Given the description of an element on the screen output the (x, y) to click on. 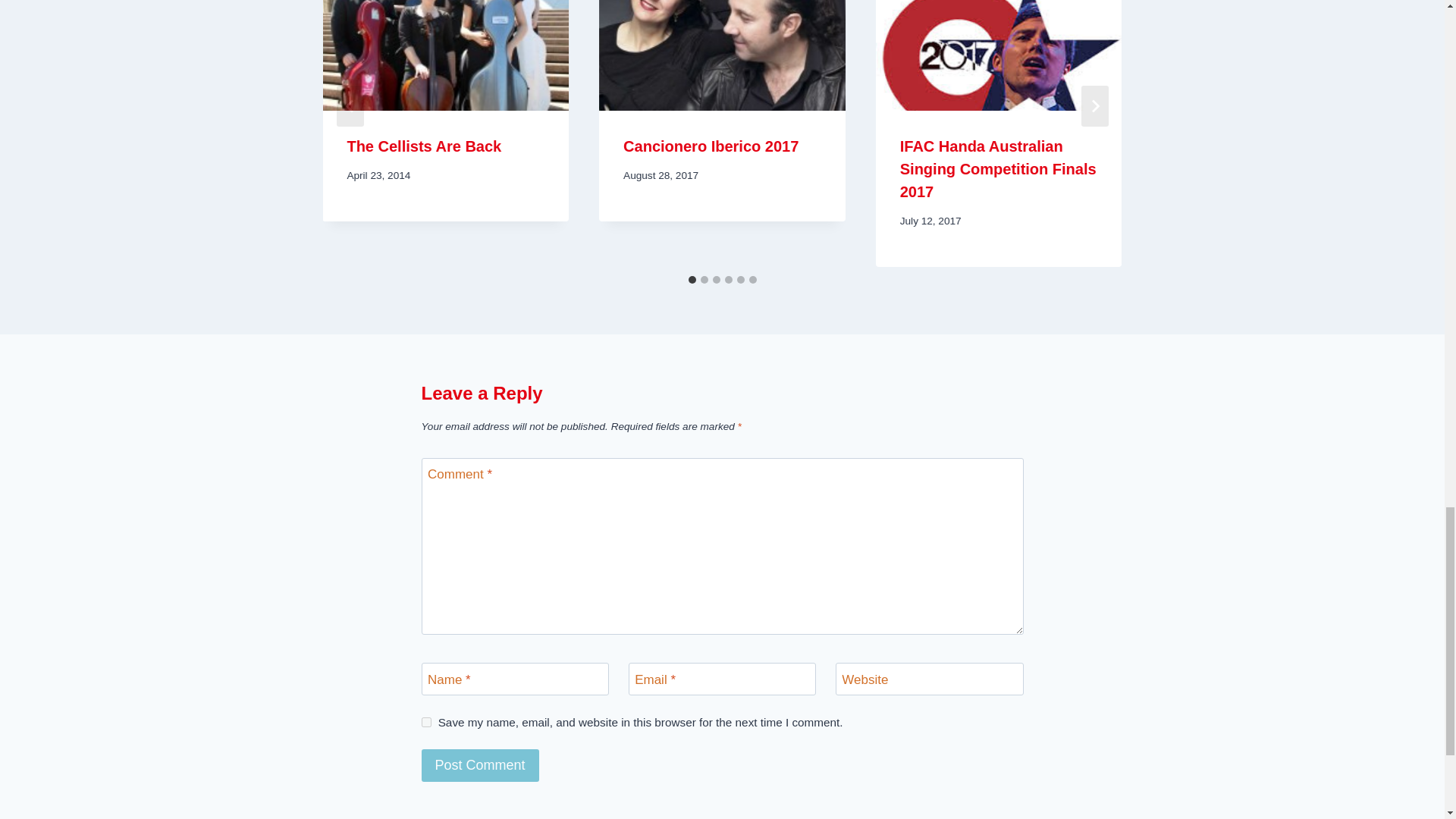
yes (426, 722)
Post Comment (480, 765)
